Given the description of an element on the screen output the (x, y) to click on. 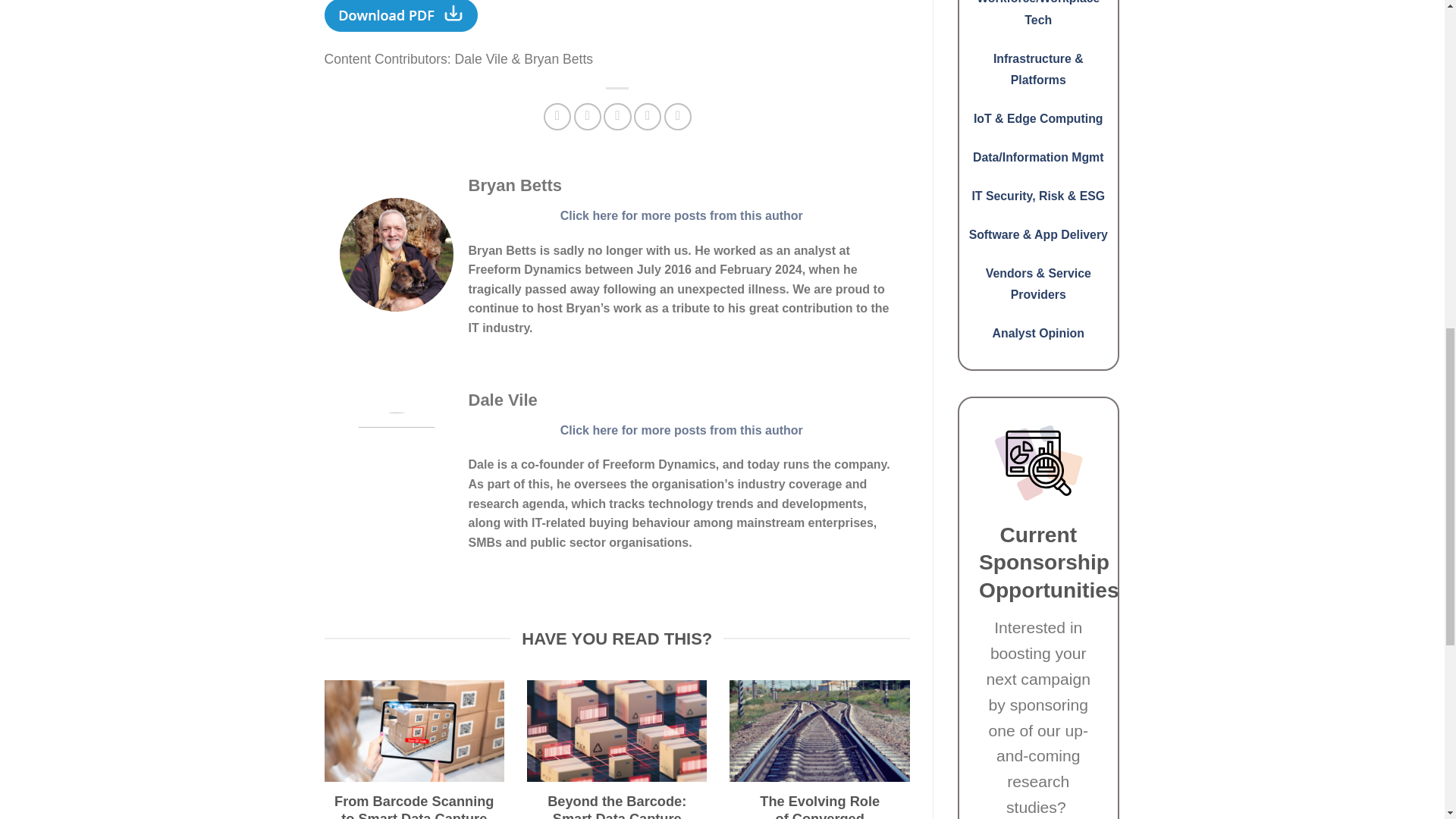
Click here for more posts from this author (681, 215)
Email to a Friend (617, 116)
Share on Twitter (587, 116)
Share on Facebook (556, 116)
Bryan Betts (515, 185)
Pin on Pinterest (647, 116)
